Given the description of an element on the screen output the (x, y) to click on. 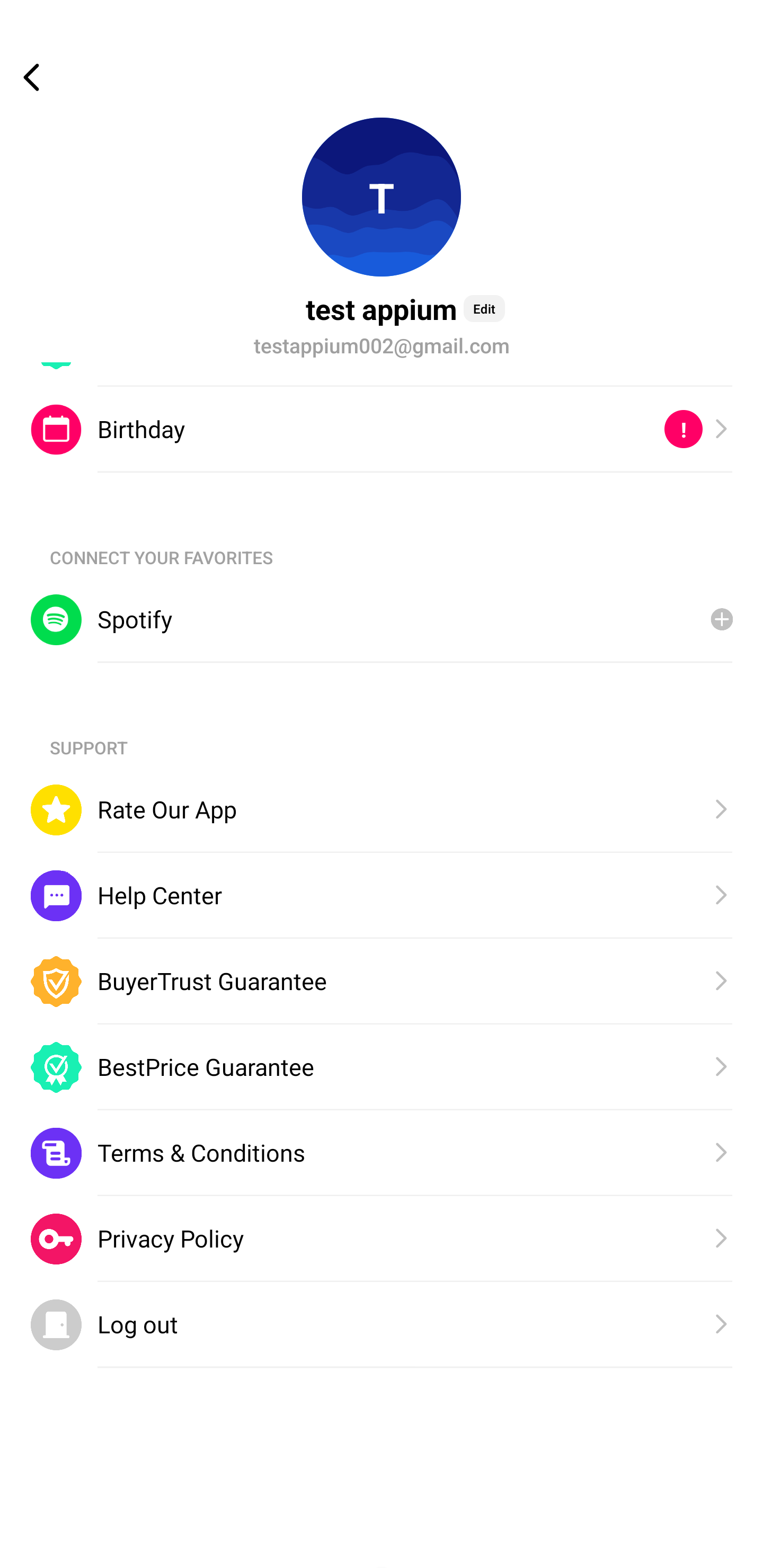
T (381, 196)
Edit (484, 307)
Birthday,   , ! Birthday    ! (381, 429)
Spotify,    Spotify    (381, 620)
Rate Our App,    Rate Our App    (381, 809)
Help Center,    Help Center    (381, 895)
BuyerTrust Guarantee,    BuyerTrust Guarantee    (381, 981)
BestPrice Guarantee,    BestPrice Guarantee    (381, 1066)
Terms & Conditions,    Terms & Conditions    (381, 1153)
Privacy Policy,    Privacy Policy    (381, 1239)
Log out,    Log out    (381, 1324)
